Given the description of an element on the screen output the (x, y) to click on. 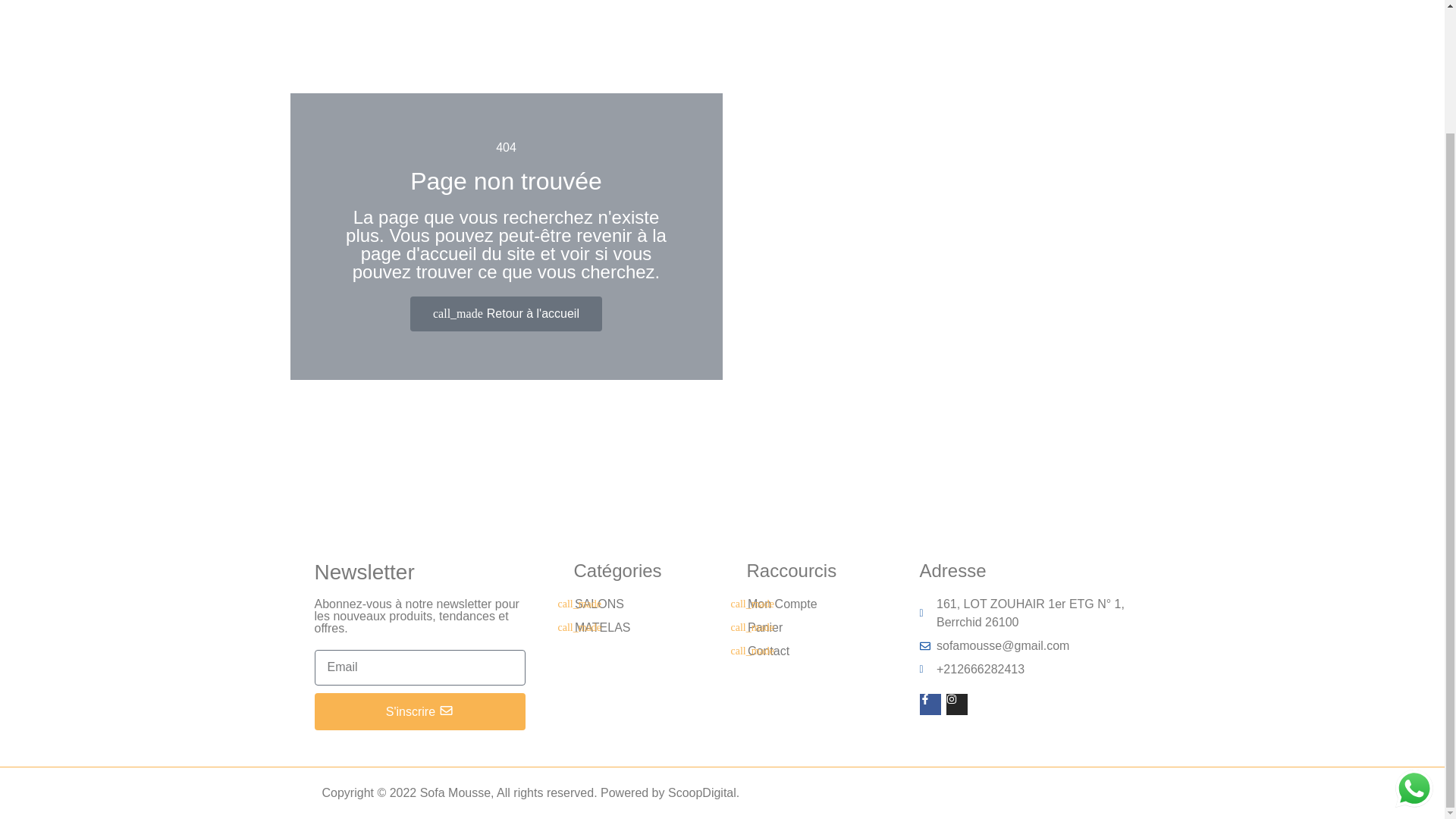
S'inscrire (419, 711)
Mon Compte (800, 604)
WhatsApp (1413, 639)
MATELAS (627, 628)
SALONS (627, 604)
Panier (800, 628)
Contact (800, 651)
ScoopDigital (702, 792)
